Given the description of an element on the screen output the (x, y) to click on. 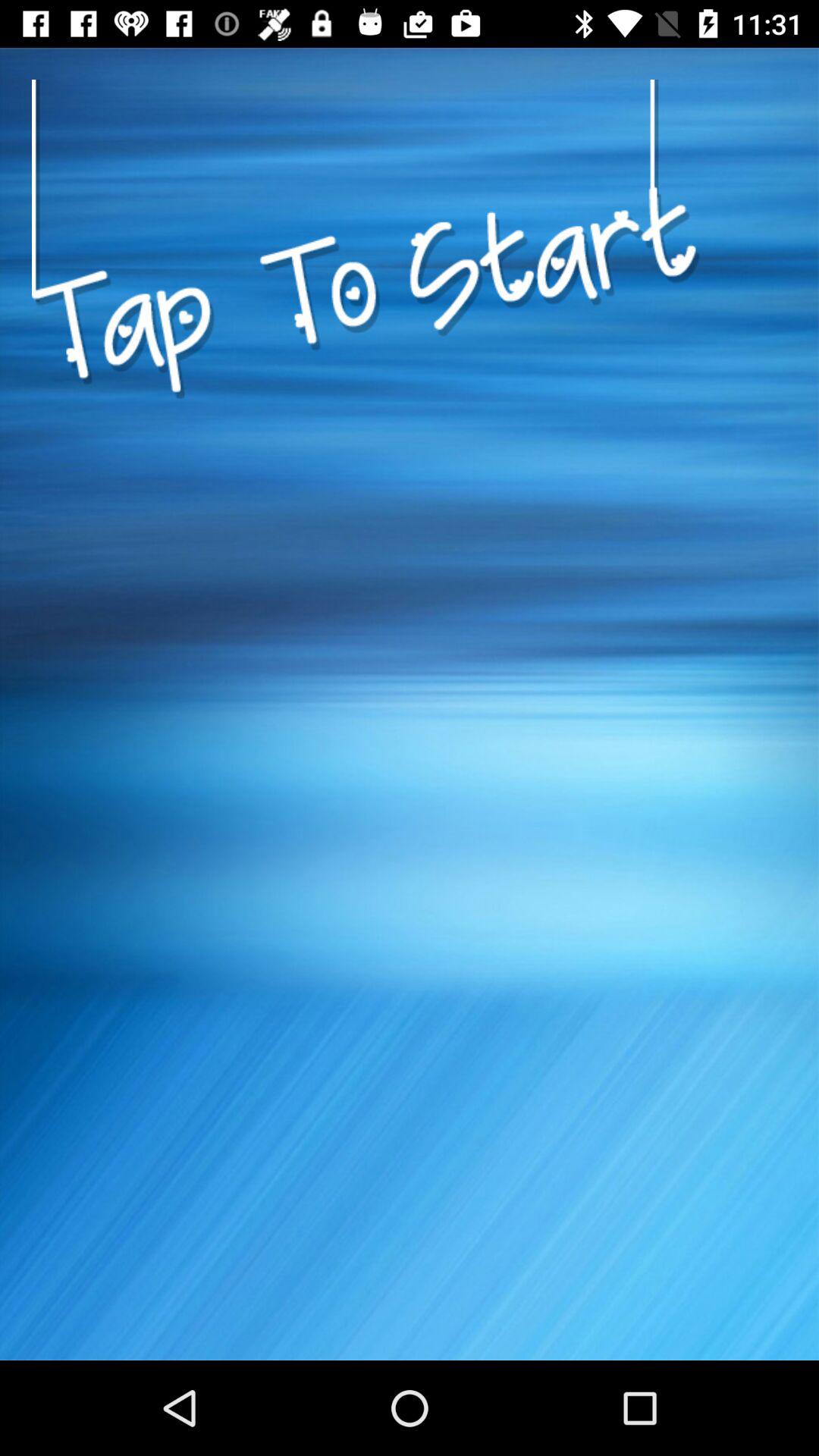
selection area to enter test (365, 465)
